Given the description of an element on the screen output the (x, y) to click on. 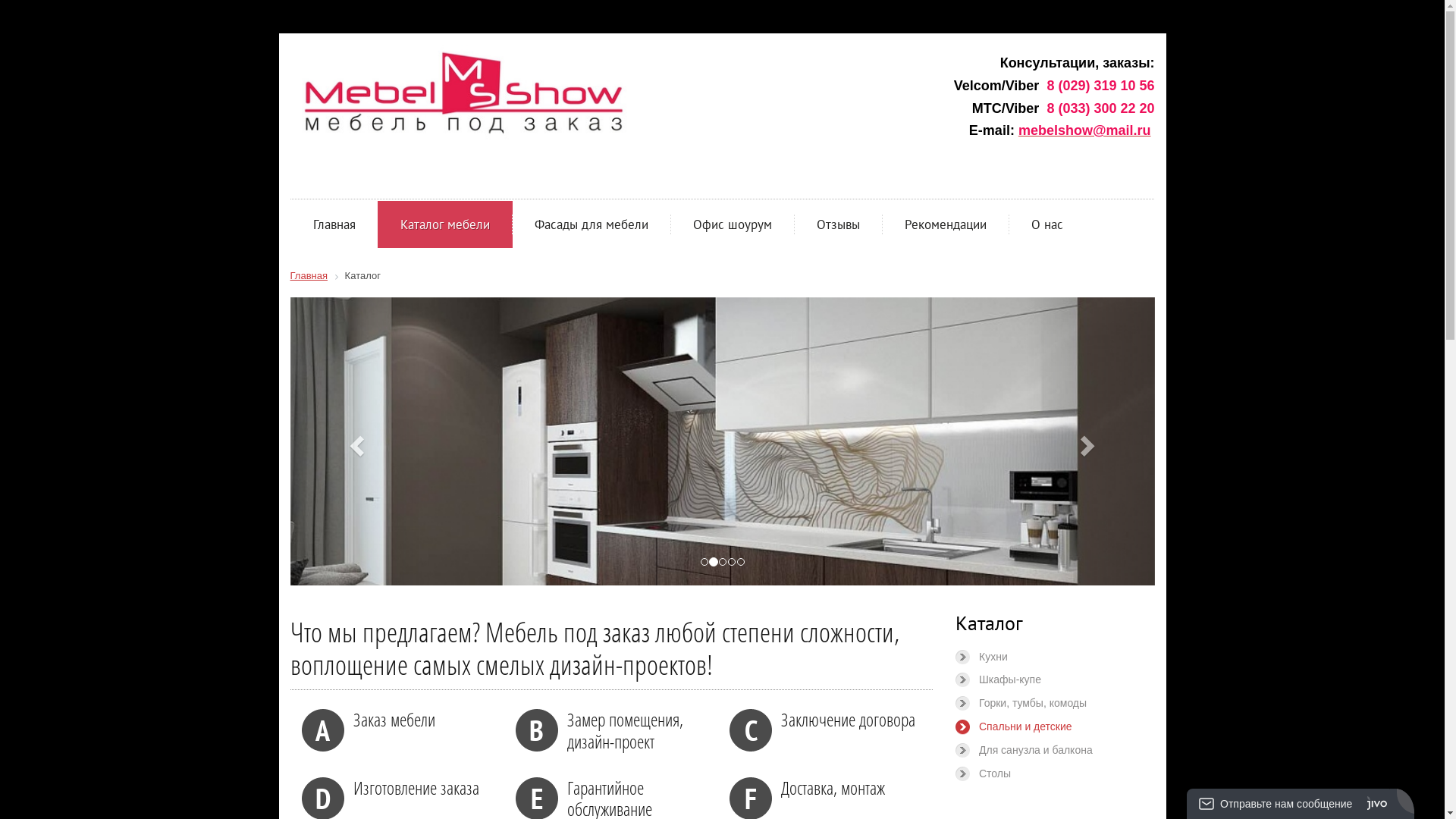
mebelshow@mail.ru Element type: text (1084, 130)
